Given the description of an element on the screen output the (x, y) to click on. 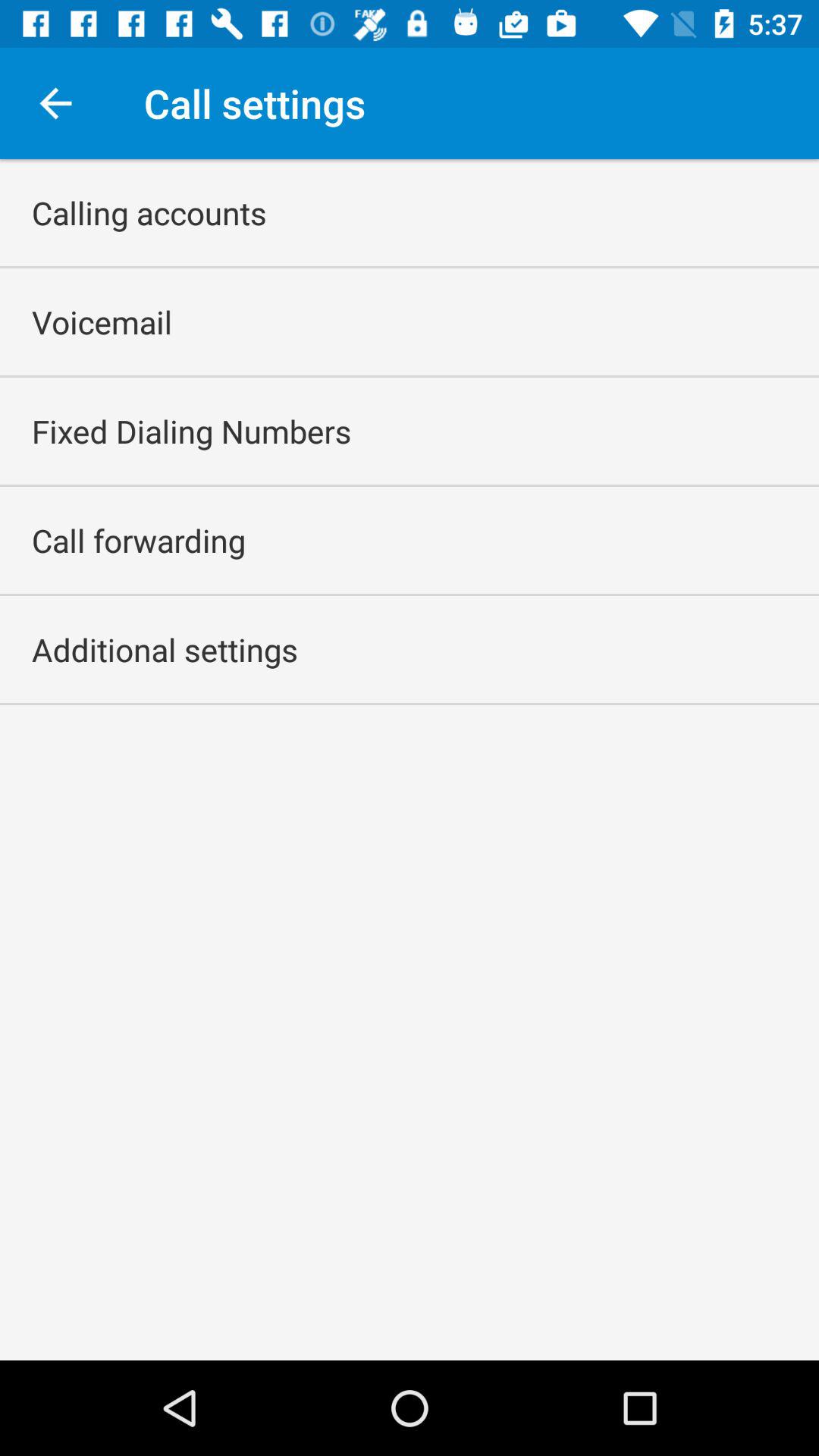
tap the app above the call forwarding icon (191, 430)
